Given the description of an element on the screen output the (x, y) to click on. 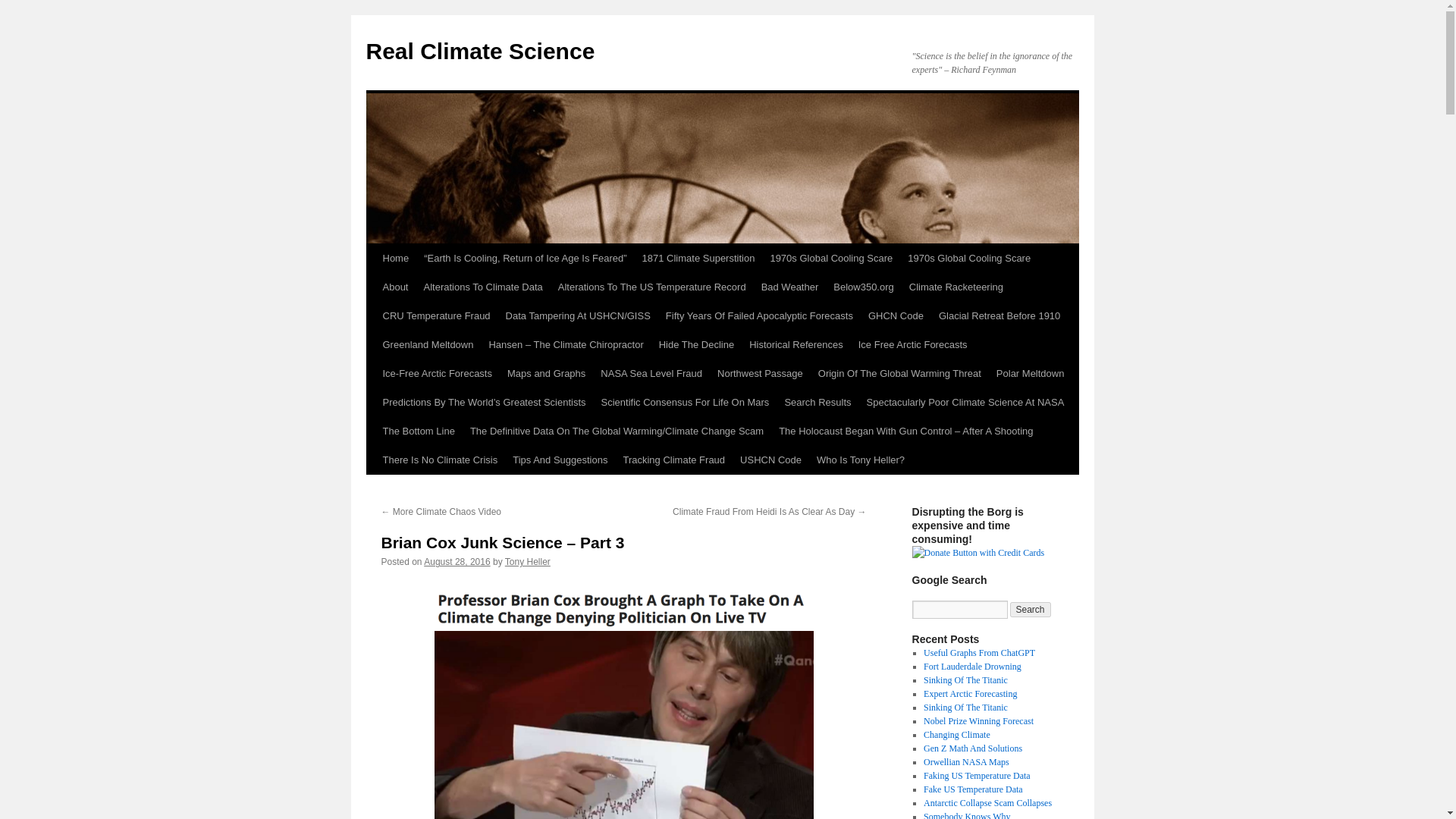
1970s Global Cooling Scare (830, 258)
1970s Global Cooling Scare (968, 258)
Search Results (817, 402)
12:00 am (456, 561)
Scientific Consensus For Life On Mars (685, 402)
1871 Climate Superstition (698, 258)
Northwest Passage (760, 373)
USHCN Code (770, 460)
Polar Meltdown (1029, 373)
Real Climate Science (479, 50)
